Given the description of an element on the screen output the (x, y) to click on. 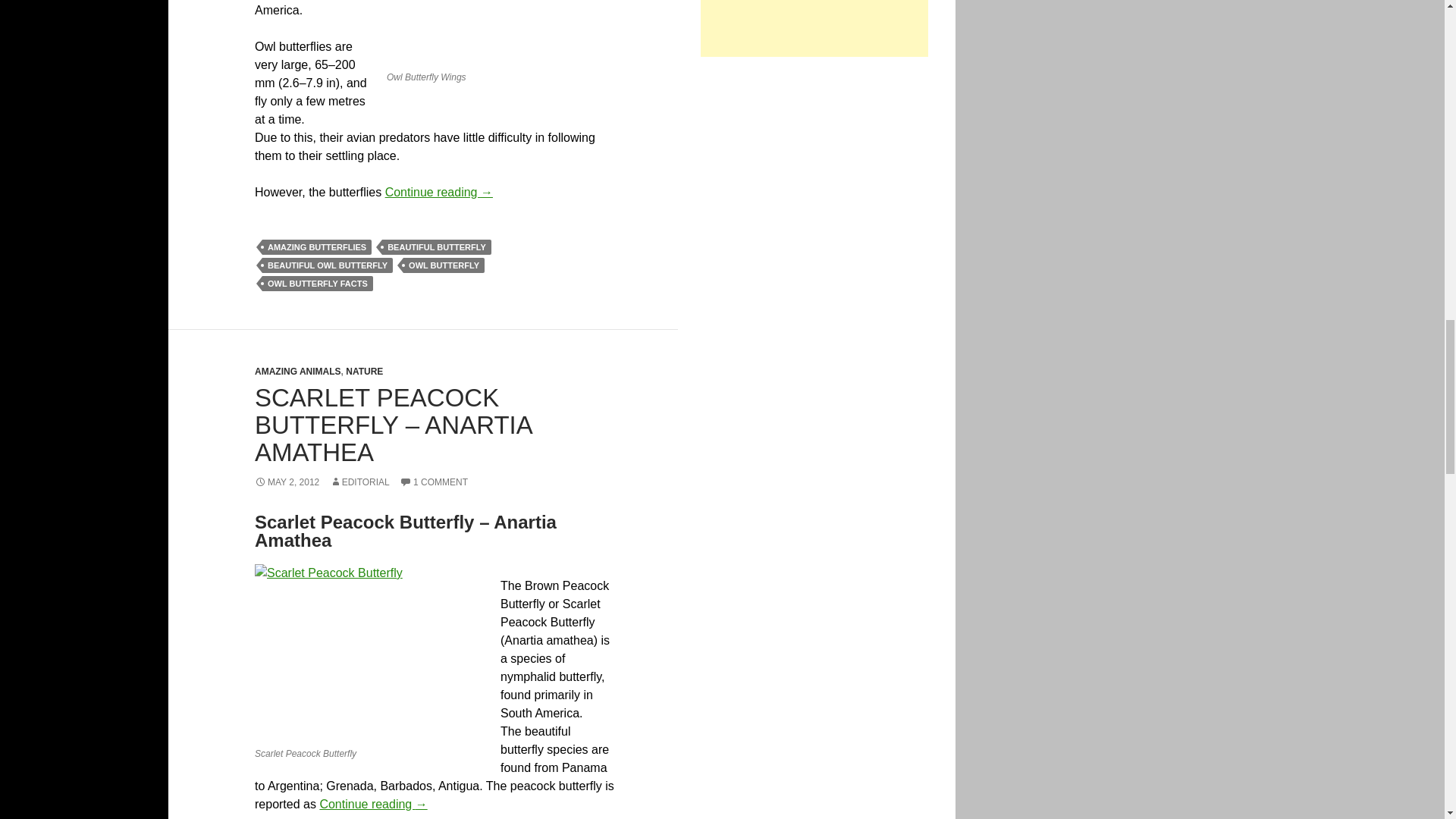
Scarlet Peacock Butterfly (367, 652)
Owl Butterflies Wings (500, 31)
